Given the description of an element on the screen output the (x, y) to click on. 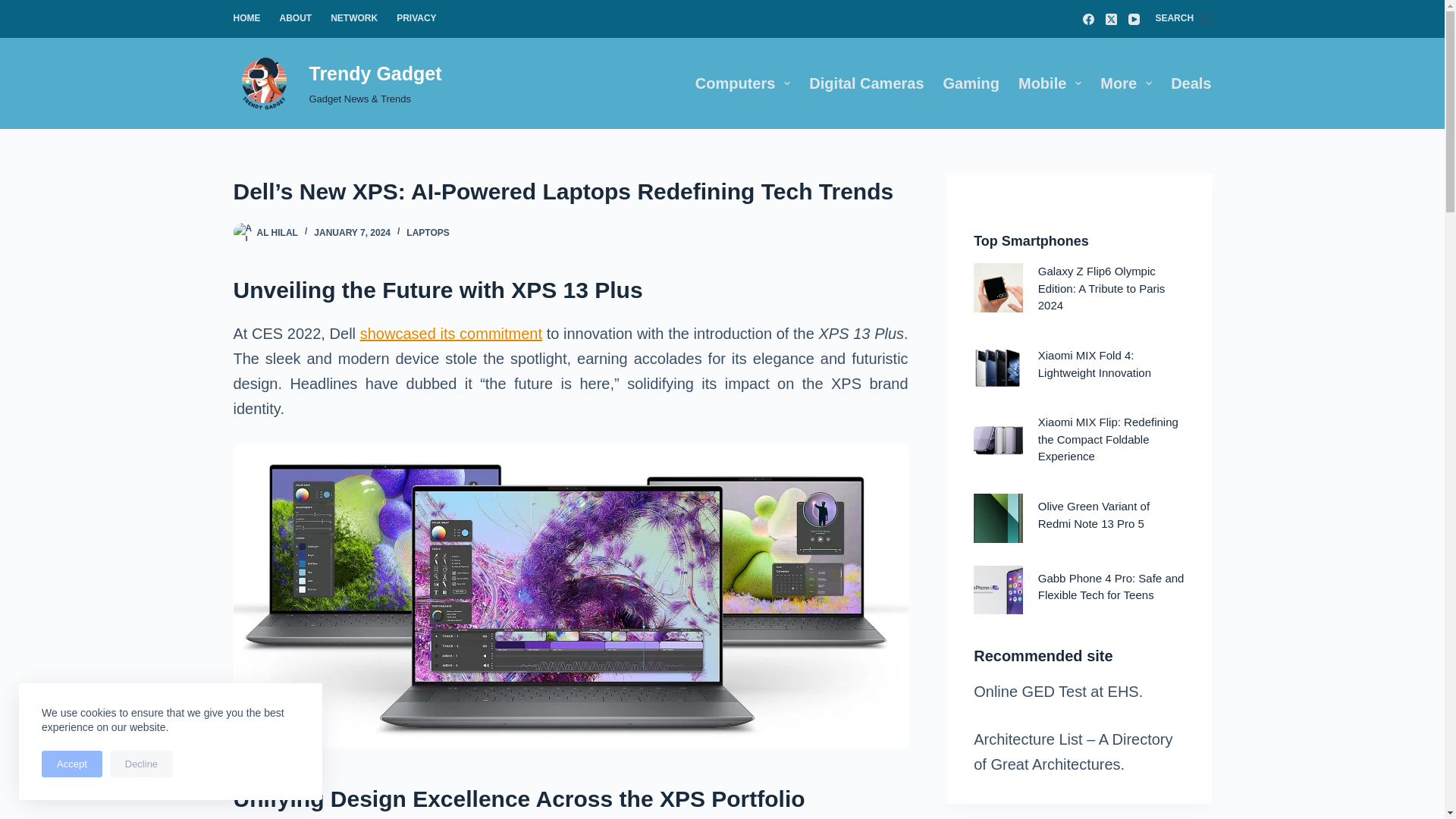
Skip to content (15, 7)
Posts by Al Hilal (276, 232)
Architecture List (1027, 739)
